Given the description of an element on the screen output the (x, y) to click on. 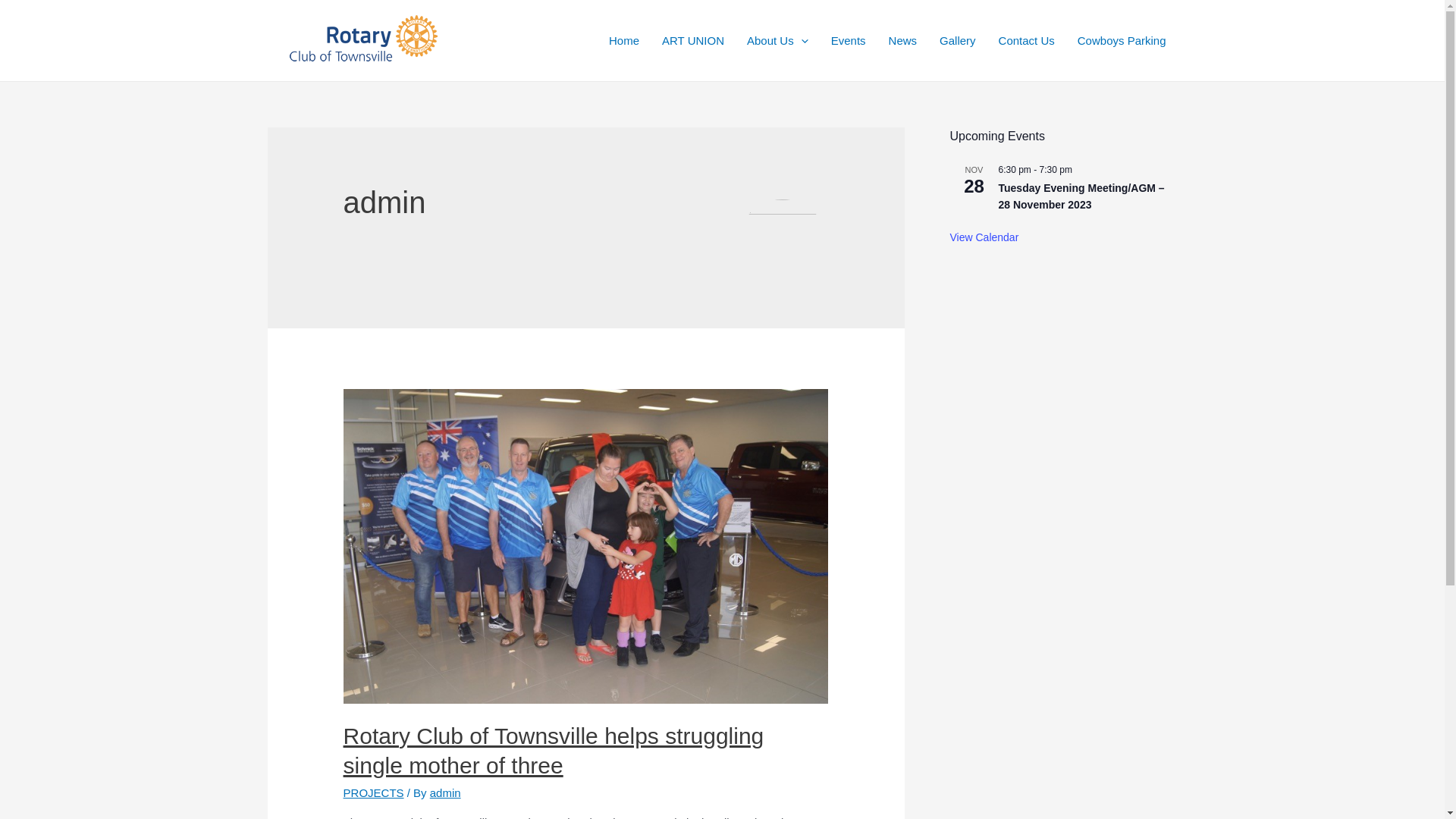
Gallery Element type: text (957, 39)
ART UNION Element type: text (692, 39)
Home Element type: text (623, 39)
Contact Us Element type: text (1026, 39)
PROJECTS Element type: text (373, 792)
News Element type: text (902, 39)
About Us Element type: text (777, 39)
View Calendar Element type: text (983, 237)
Cowboys Parking Element type: text (1121, 39)
admin Element type: text (445, 792)
Events Element type: text (848, 39)
